Given the description of an element on the screen output the (x, y) to click on. 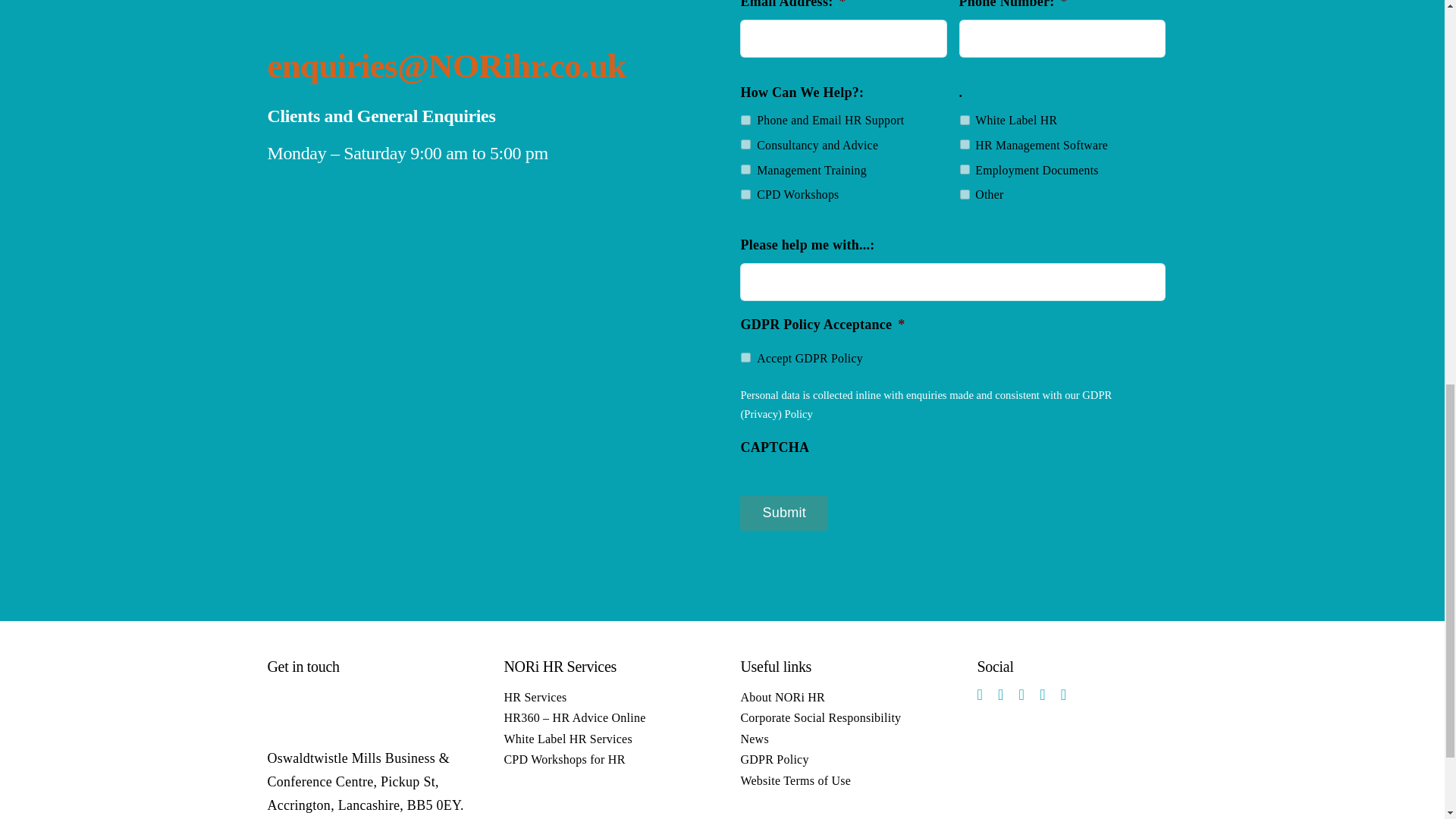
White Label HR (964, 120)
Accept GDPR Policy (746, 357)
Submit (783, 513)
Phone and Email HR Support (746, 120)
HR Management Software (964, 144)
Consultancy and Advice (746, 144)
Other (964, 194)
NORi logo (320, 710)
CPD Workshops (746, 194)
Employment Documents (964, 169)
